Given the description of an element on the screen output the (x, y) to click on. 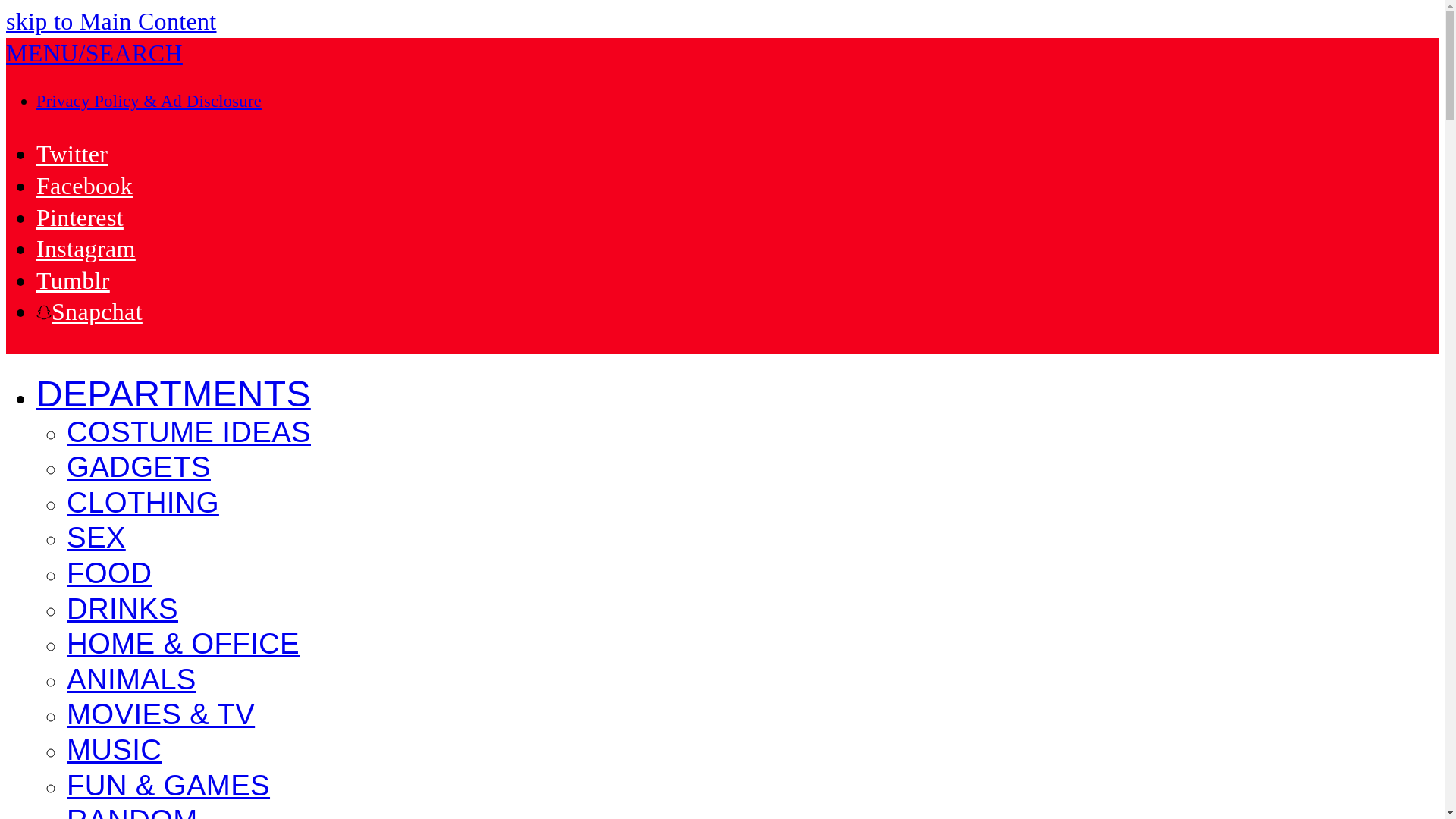
RANDOM (132, 813)
Snapchat (89, 311)
GADGETS (138, 468)
Instagram (85, 248)
Pinterest (79, 216)
Snapchat (89, 311)
Tumblr (73, 280)
Tumblr (73, 280)
FOOD (108, 574)
COSTUME IDEAS (188, 433)
